Given the description of an element on the screen output the (x, y) to click on. 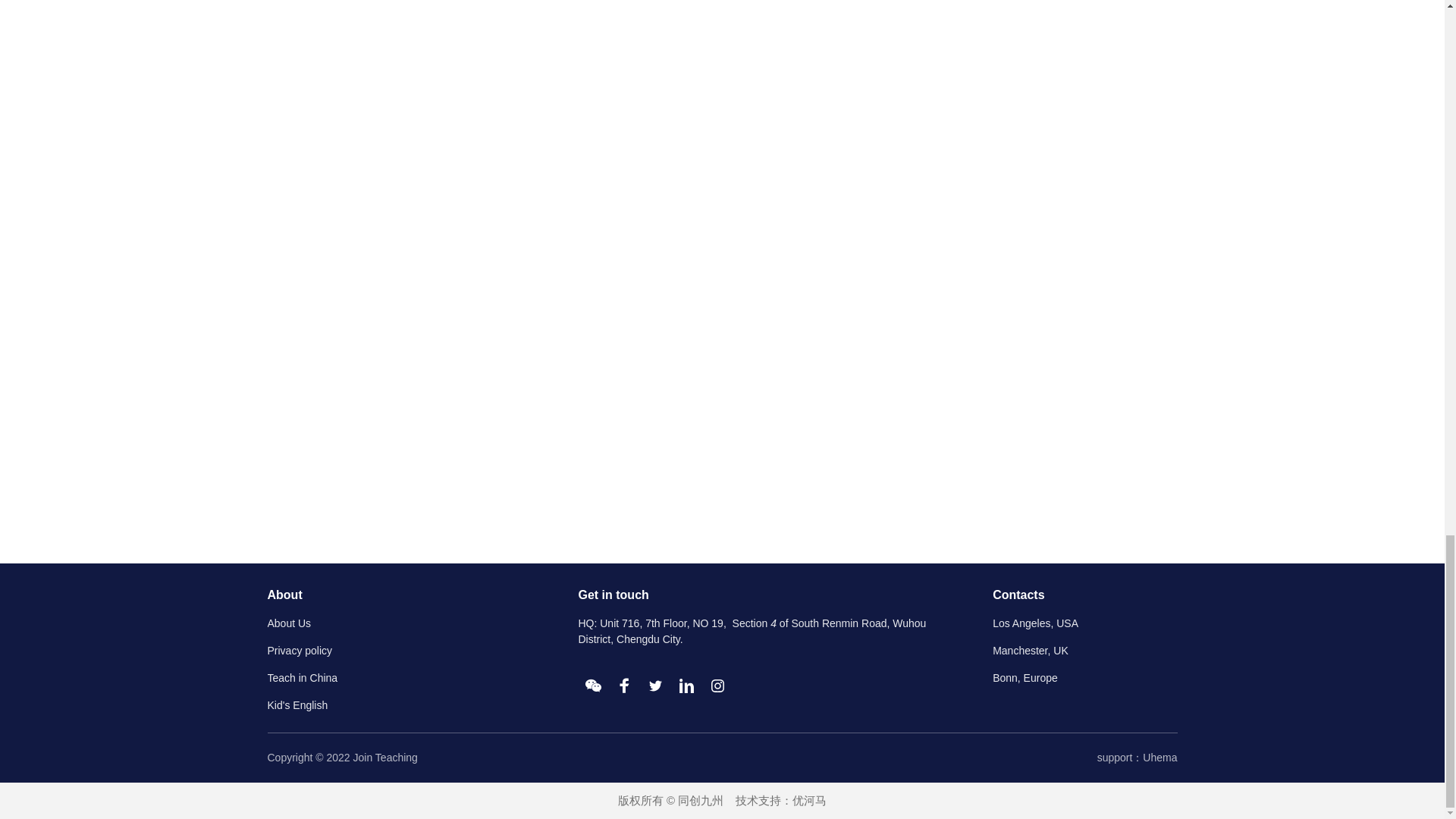
Twitter (655, 685)
Linkedin (686, 685)
Facebook (624, 685)
Wechat (593, 685)
Instagram (717, 685)
